Given the description of an element on the screen output the (x, y) to click on. 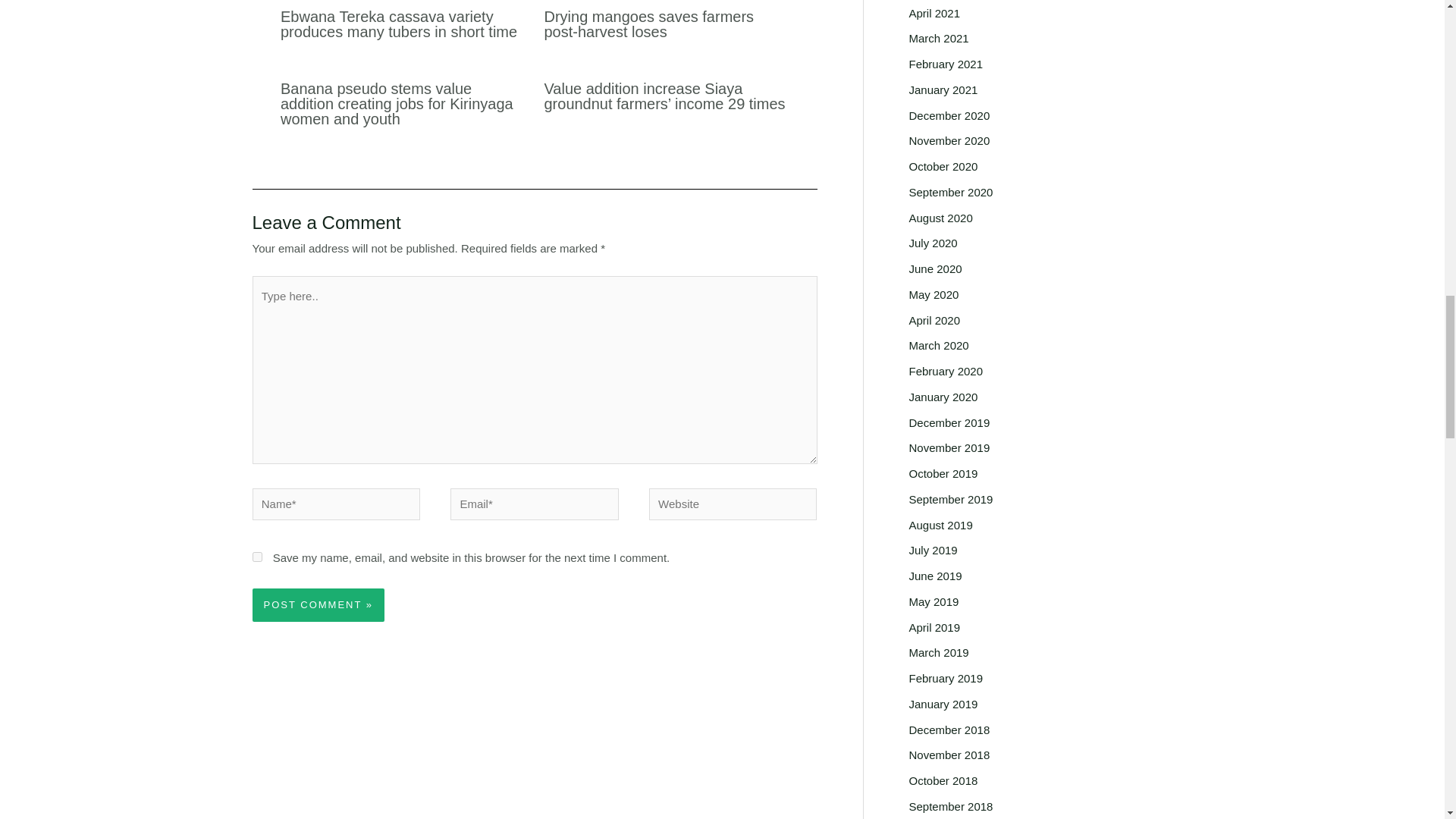
yes (256, 556)
Drying mangoes saves farmers post-harvest loses (649, 24)
